Given the description of an element on the screen output the (x, y) to click on. 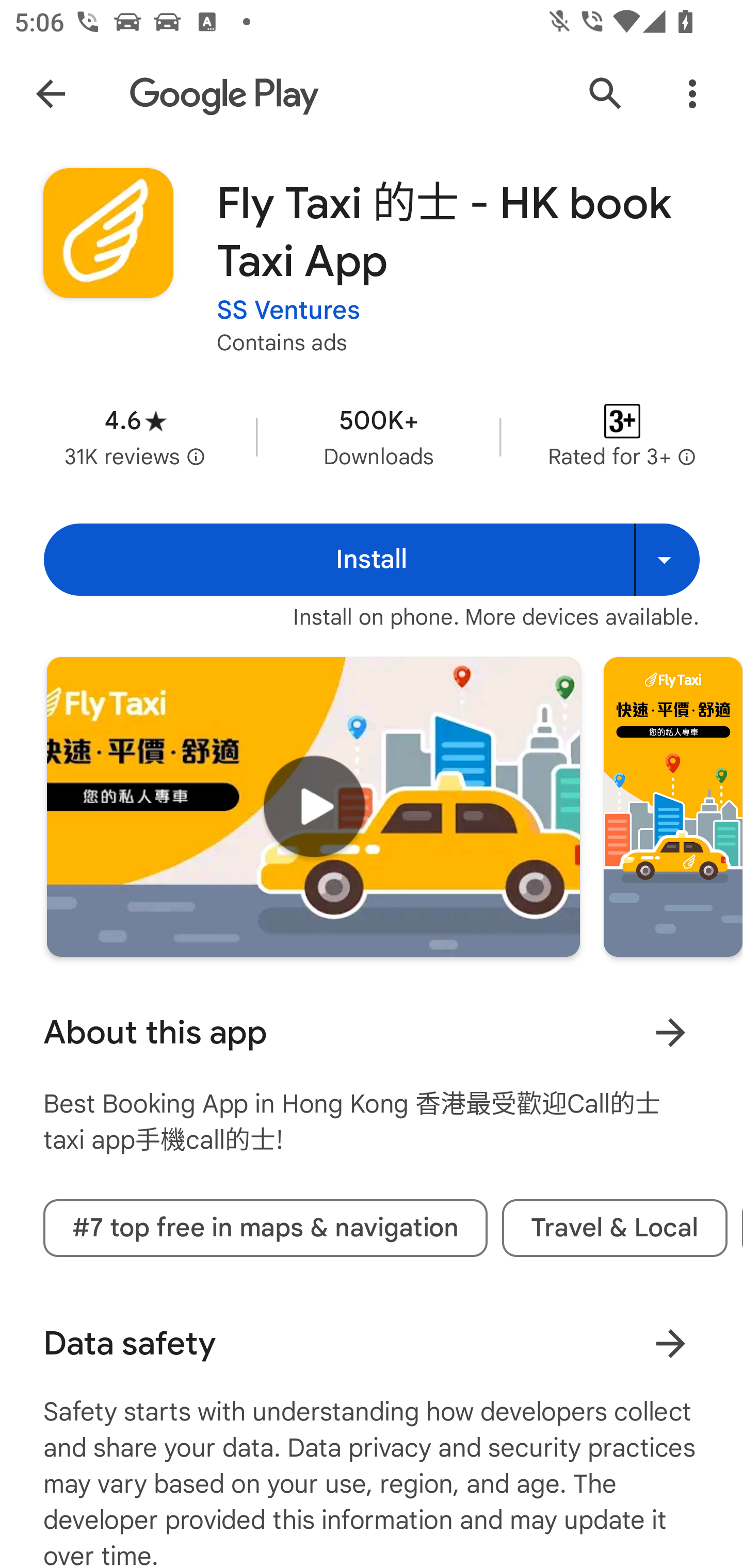
Navigate up (50, 93)
Search Google Play (605, 93)
More Options (692, 93)
SS Ventures (288, 310)
Average rating 4.6 stars in 31 thousand reviews (135, 436)
Content rating Rated for 3+ (622, 436)
Install Install Install on more devices (371, 559)
Install on more devices (667, 559)
Play trailer for "Fly Taxi 的士 - HK book Taxi App" (313, 806)
About this app Learn more About this app (371, 1032)
Learn more About this app (670, 1032)
#7 top free in maps & navigation tag (265, 1228)
Travel & Local tag (614, 1228)
Data safety Learn more about data safety (371, 1343)
Learn more about data safety (670, 1343)
